Given the description of an element on the screen output the (x, y) to click on. 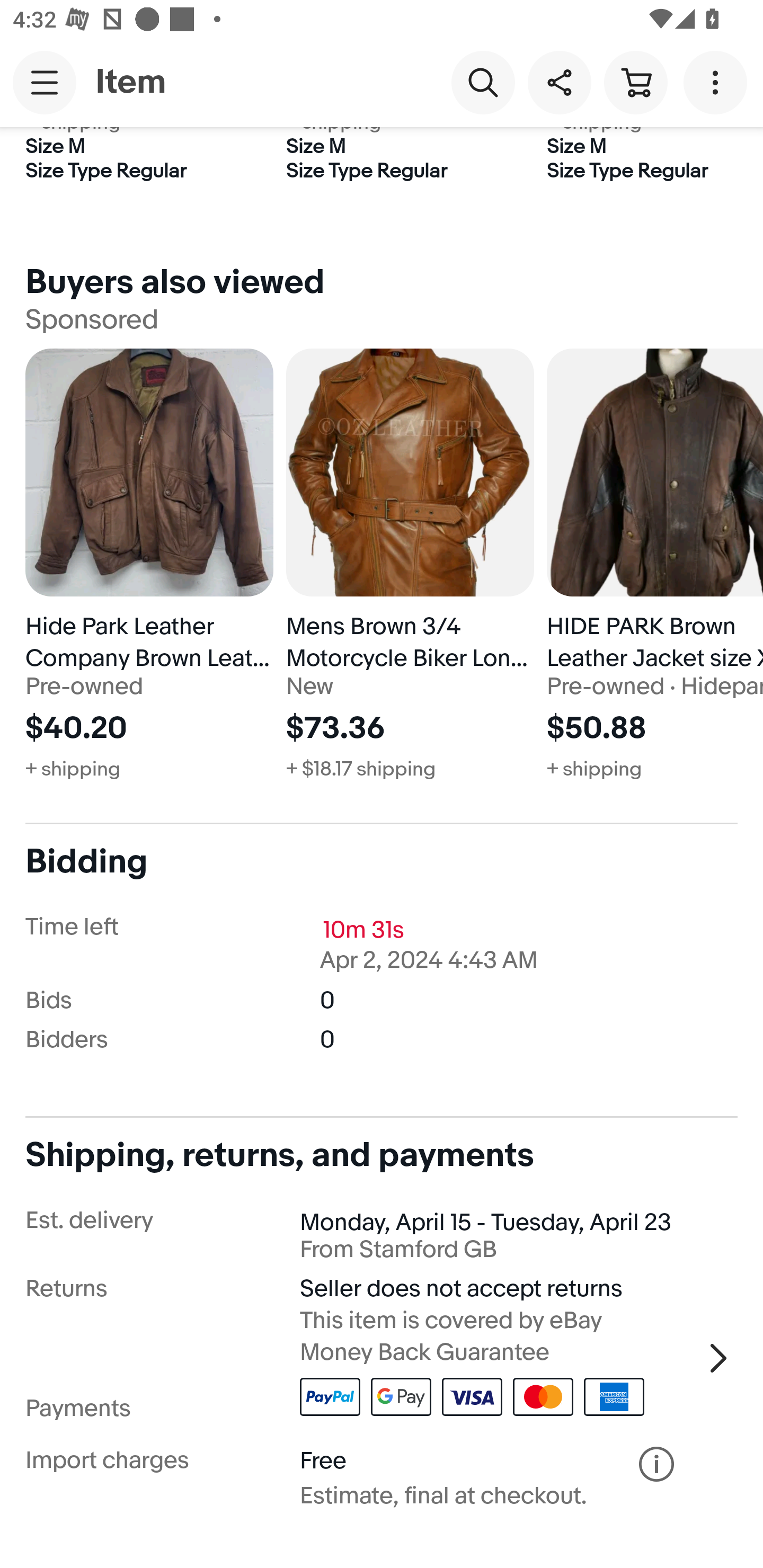
Main navigation, open (44, 82)
Search (482, 81)
Share this item (559, 81)
Cart button shopping cart (635, 81)
More options (718, 81)
Terms and conditions - Import charges (656, 1464)
